Given the description of an element on the screen output the (x, y) to click on. 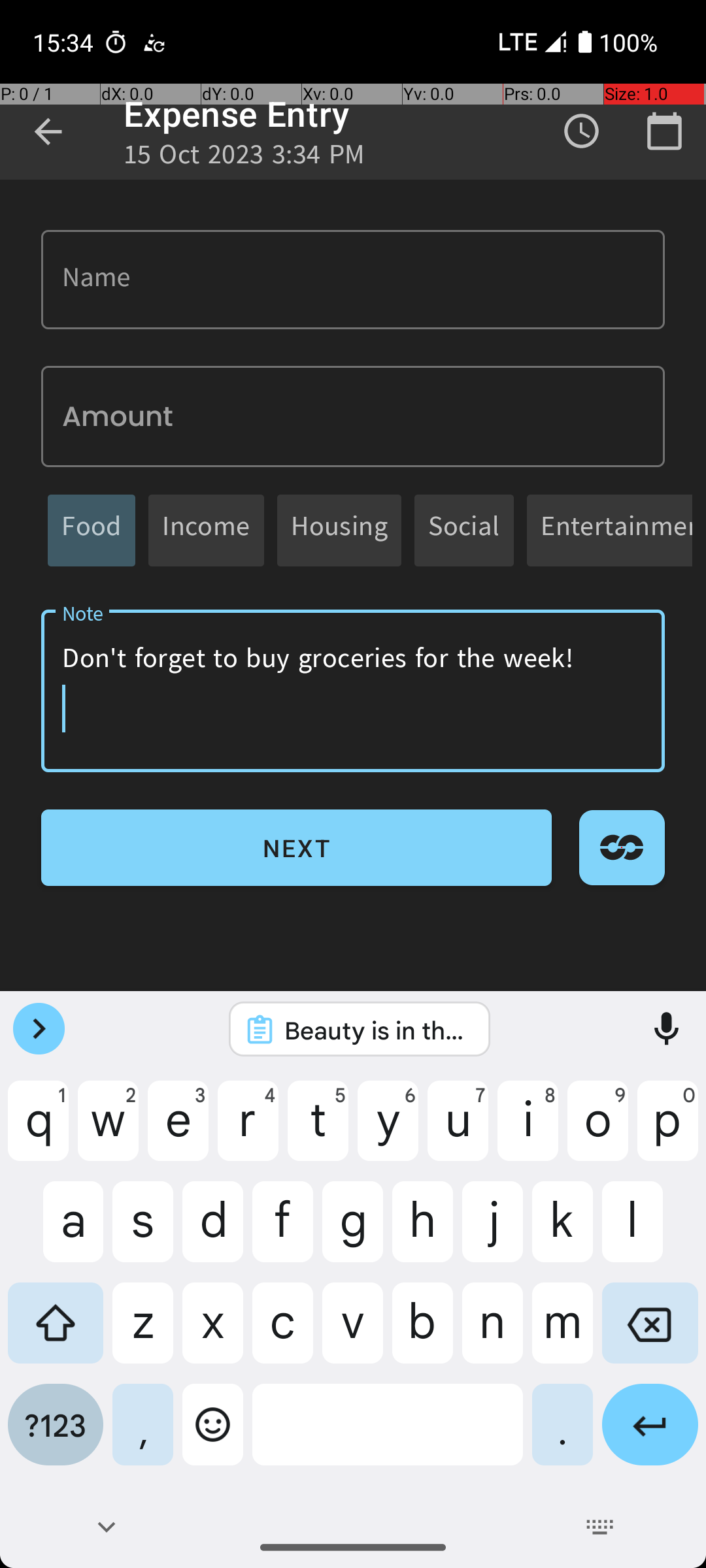
Don't forget to buy groceries for the week!
 Element type: android.widget.EditText (352, 690)
NEXT Element type: android.widget.Button (296, 847)
Beauty is in the eye of the beholder. Element type: android.widget.TextView (376, 1029)
